Given the description of an element on the screen output the (x, y) to click on. 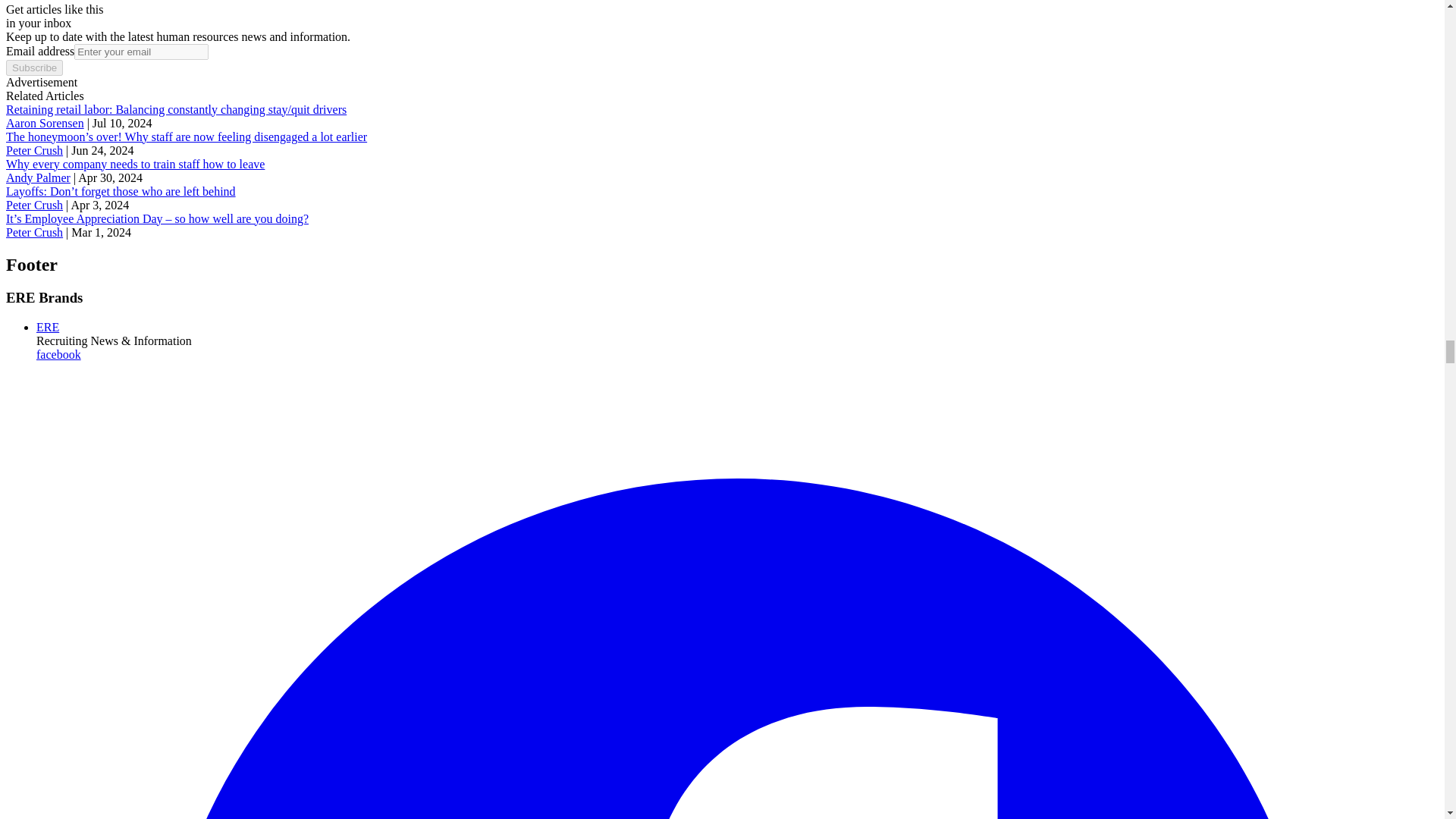
Aaron Sorensen (44, 123)
Subscribe (33, 67)
Peter Crush (33, 150)
